Given the description of an element on the screen output the (x, y) to click on. 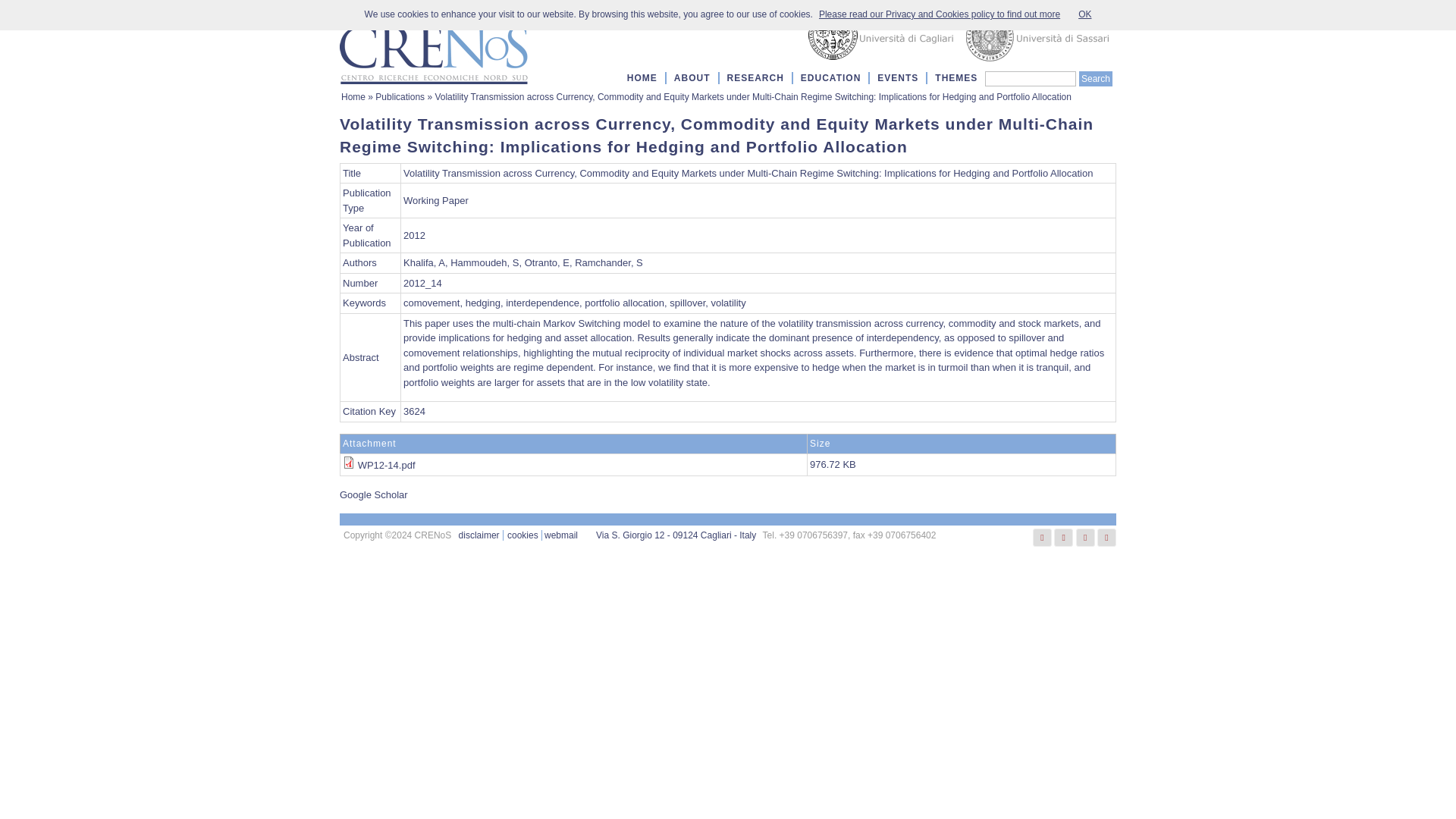
Enter the terms you wish to search for. (1030, 78)
webmail (561, 534)
Please read our Privacy and Cookies policy to find out more (938, 14)
HOME (642, 77)
ABOUT (691, 77)
EVENTS (897, 77)
cookies (522, 534)
EDUCATION (830, 77)
webmail (561, 534)
OK (1084, 14)
disclaimer (478, 534)
RESEARCH (755, 77)
Home (434, 46)
spillover (686, 302)
HOME (642, 77)
